Given the description of an element on the screen output the (x, y) to click on. 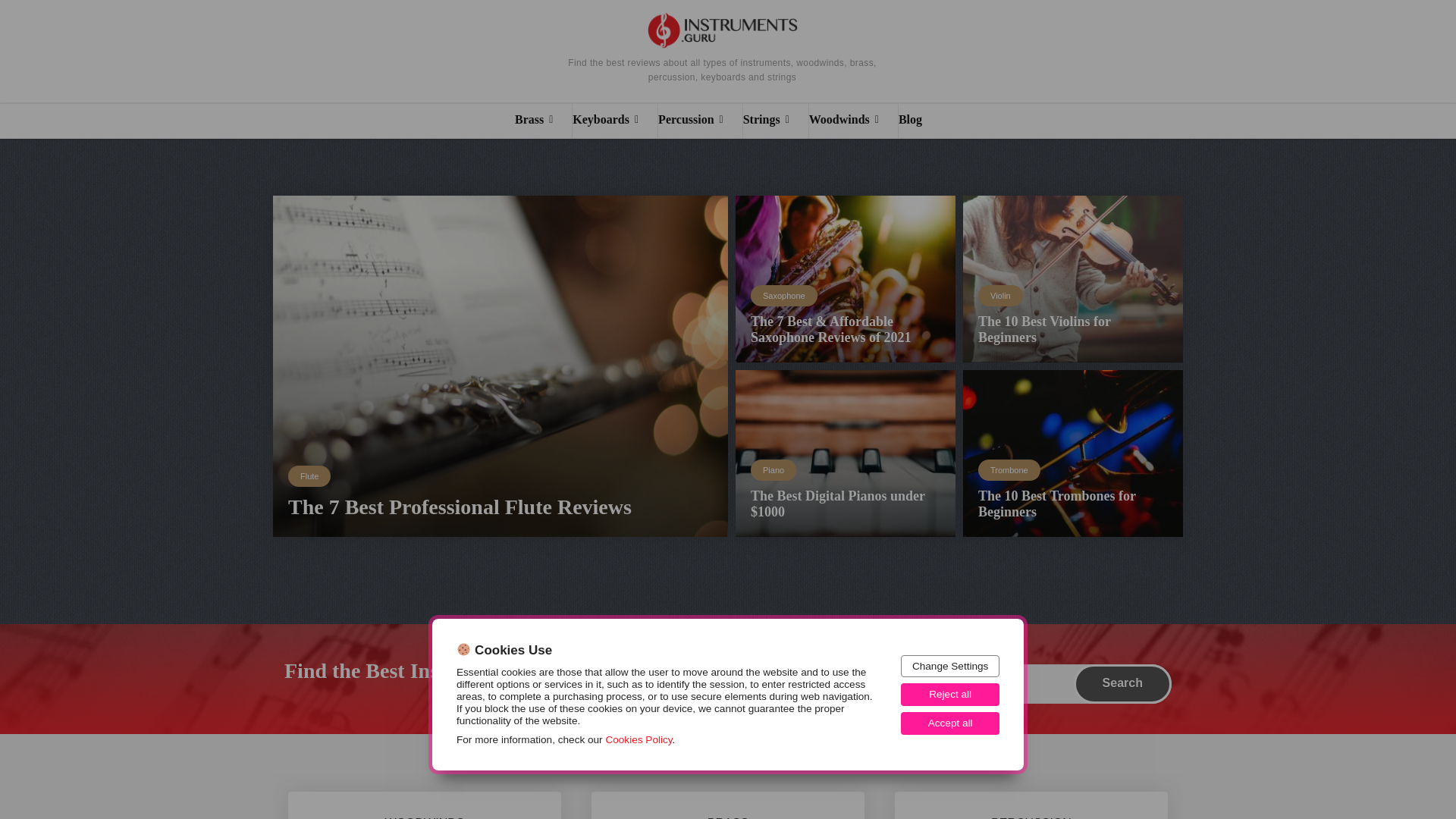
Woodwinds (853, 121)
Strings (775, 121)
Brass (543, 121)
Percussion (700, 121)
Keyboards (615, 121)
Blog (919, 121)
